Given the description of an element on the screen output the (x, y) to click on. 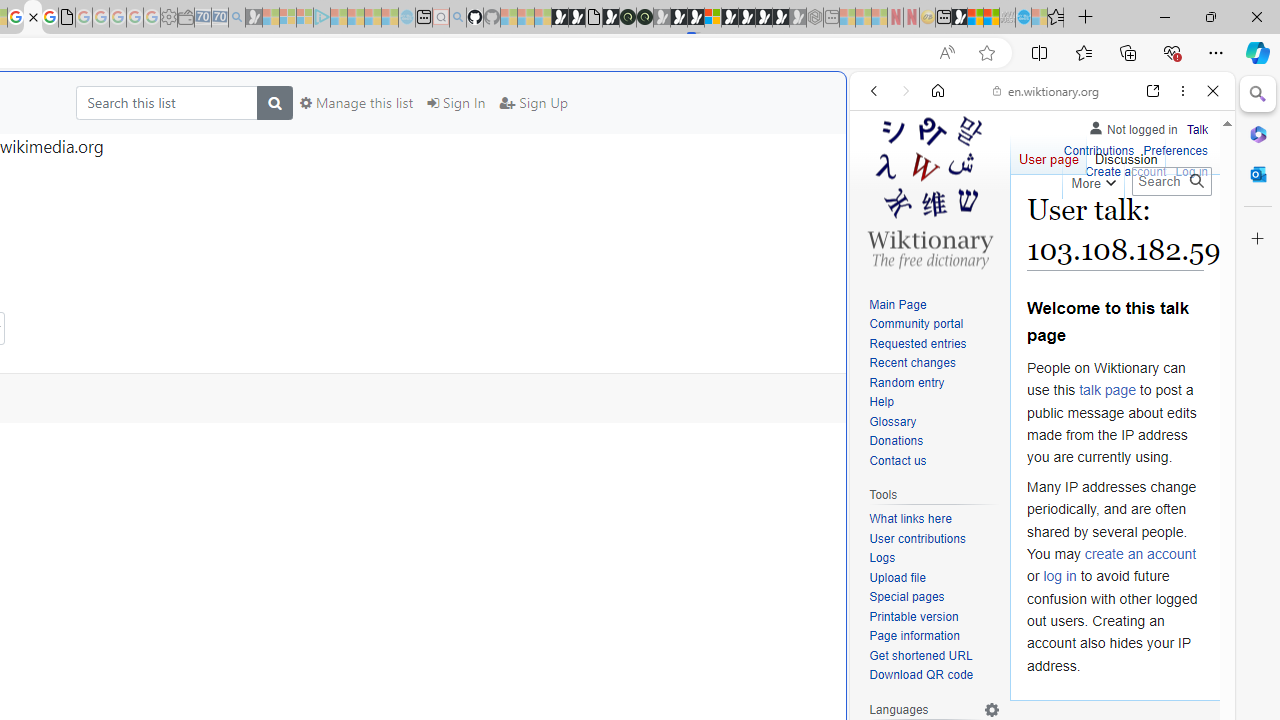
github - Search - Sleeping (457, 17)
Talk (1197, 126)
Page information (914, 636)
Page information (934, 637)
